Given the description of an element on the screen output the (x, y) to click on. 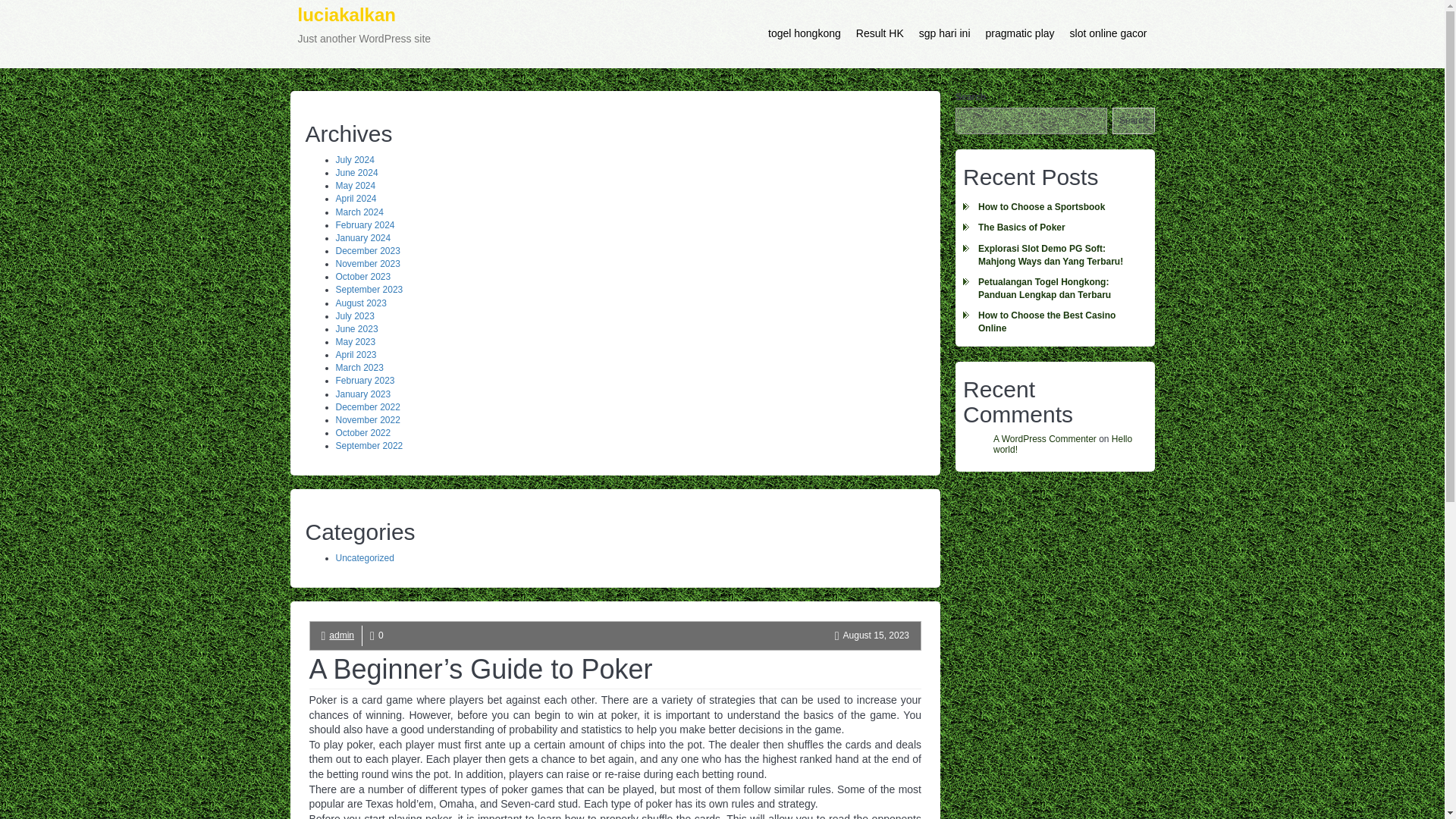
September 2022 (368, 445)
Uncategorized (363, 557)
Petualangan Togel Hongkong: Panduan Lengkap dan Terbaru (1054, 288)
April 2024 (354, 198)
July 2024 (354, 159)
togel hongkong (804, 33)
June 2024 (355, 172)
slot online gacor (1108, 33)
July 2023 (354, 316)
How to Choose the Best Casino Online (1054, 322)
June 2023 (355, 328)
March 2023 (358, 367)
December 2022 (366, 407)
April 2023 (354, 354)
February 2023 (364, 380)
